Given the description of an element on the screen output the (x, y) to click on. 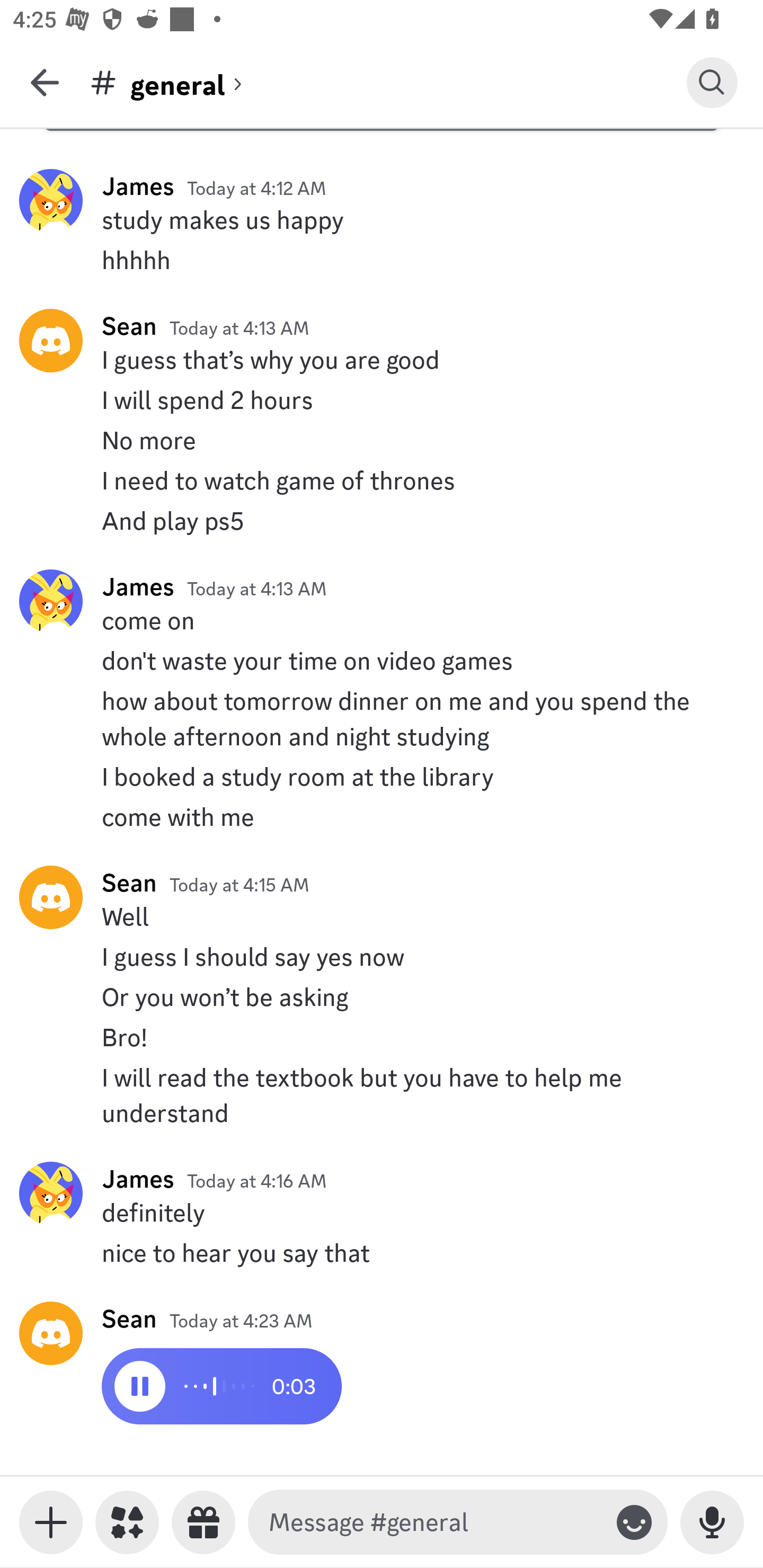
general (channel) general general (channel) (387, 82)
Back (44, 82)
Search (711, 82)
James (137, 185)
ssseannn007., hhhhh hhhhh (381, 259)
Sean (129, 325)
yuxiang.007, No more No more (381, 440)
yuxiang.007, And play ps5 And play ps5 (381, 520)
James (137, 586)
ssseannn007., come with me come with me (381, 816)
Sean (129, 882)
yuxiang.007, Bro! Bro! (381, 1036)
James (137, 1177)
Sean (129, 1318)
Toggle media keyboard (50, 1522)
Apps (126, 1522)
Send a gift (203, 1522)
Record Voice Message (711, 1522)
Message #general (433, 1522)
Toggle emoji keyboard (634, 1522)
